Given the description of an element on the screen output the (x, y) to click on. 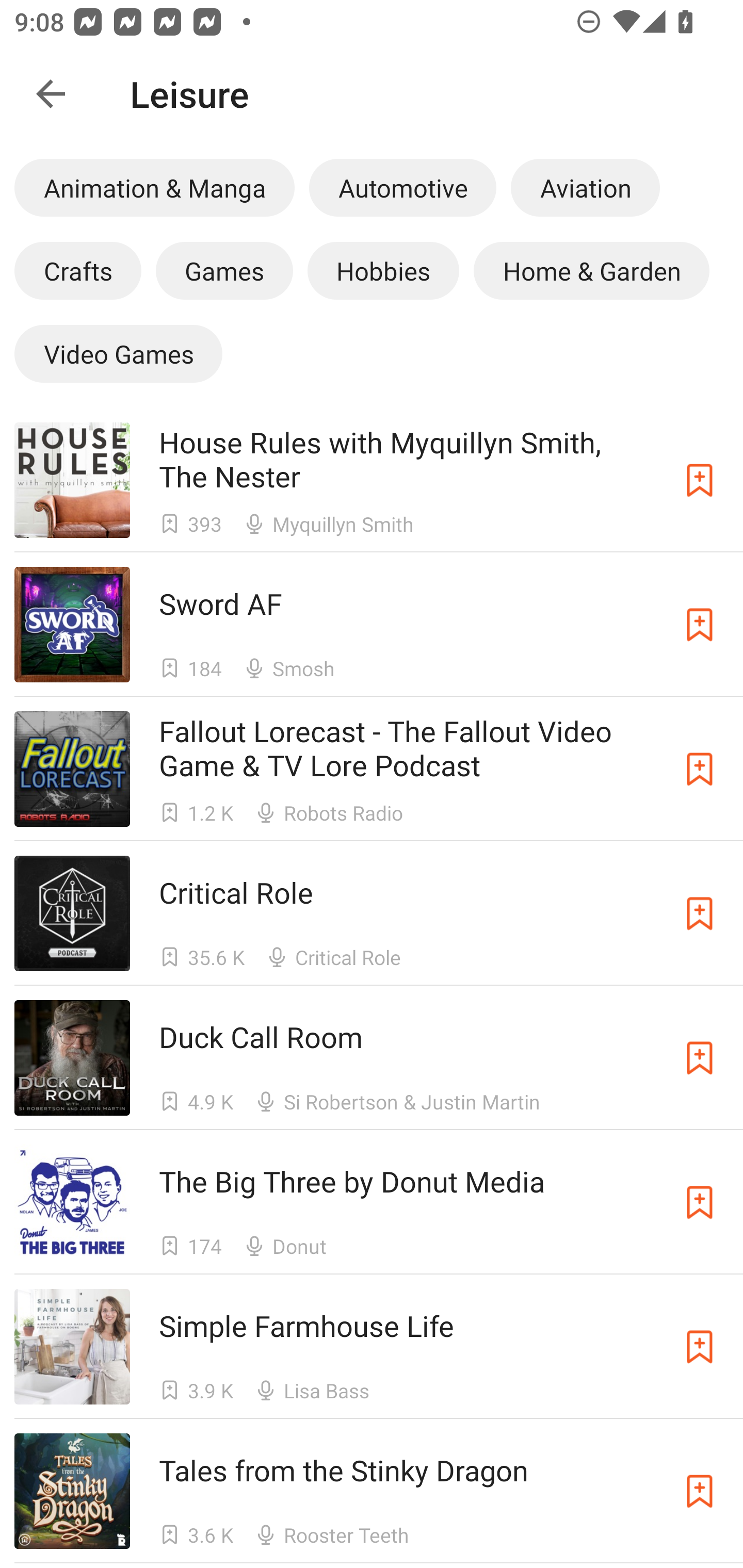
Navigate up (50, 93)
Animation & Manga (154, 187)
Automotive (402, 187)
Aviation (585, 187)
Crafts (77, 270)
Games (224, 270)
Hobbies (383, 270)
Home & Garden (591, 270)
Video Games (118, 353)
Subscribe (699, 479)
Sword AF Sword AF  184  Smosh Subscribe (371, 623)
Subscribe (699, 624)
Subscribe (699, 768)
Subscribe (699, 913)
Subscribe (699, 1058)
Subscribe (699, 1202)
Subscribe (699, 1346)
Subscribe (699, 1491)
